Given the description of an element on the screen output the (x, y) to click on. 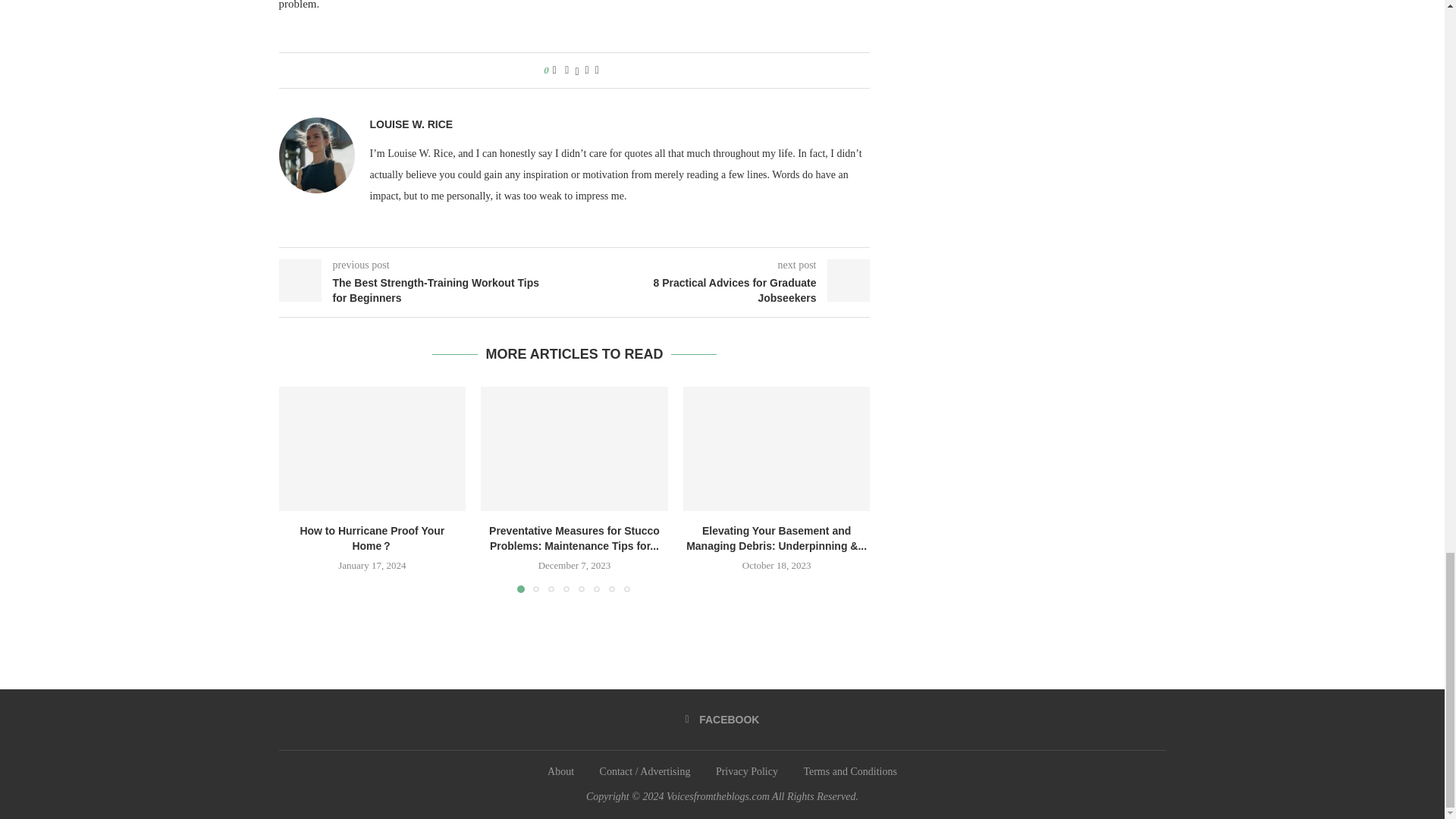
Author Louise W. Rice (410, 124)
